Given the description of an element on the screen output the (x, y) to click on. 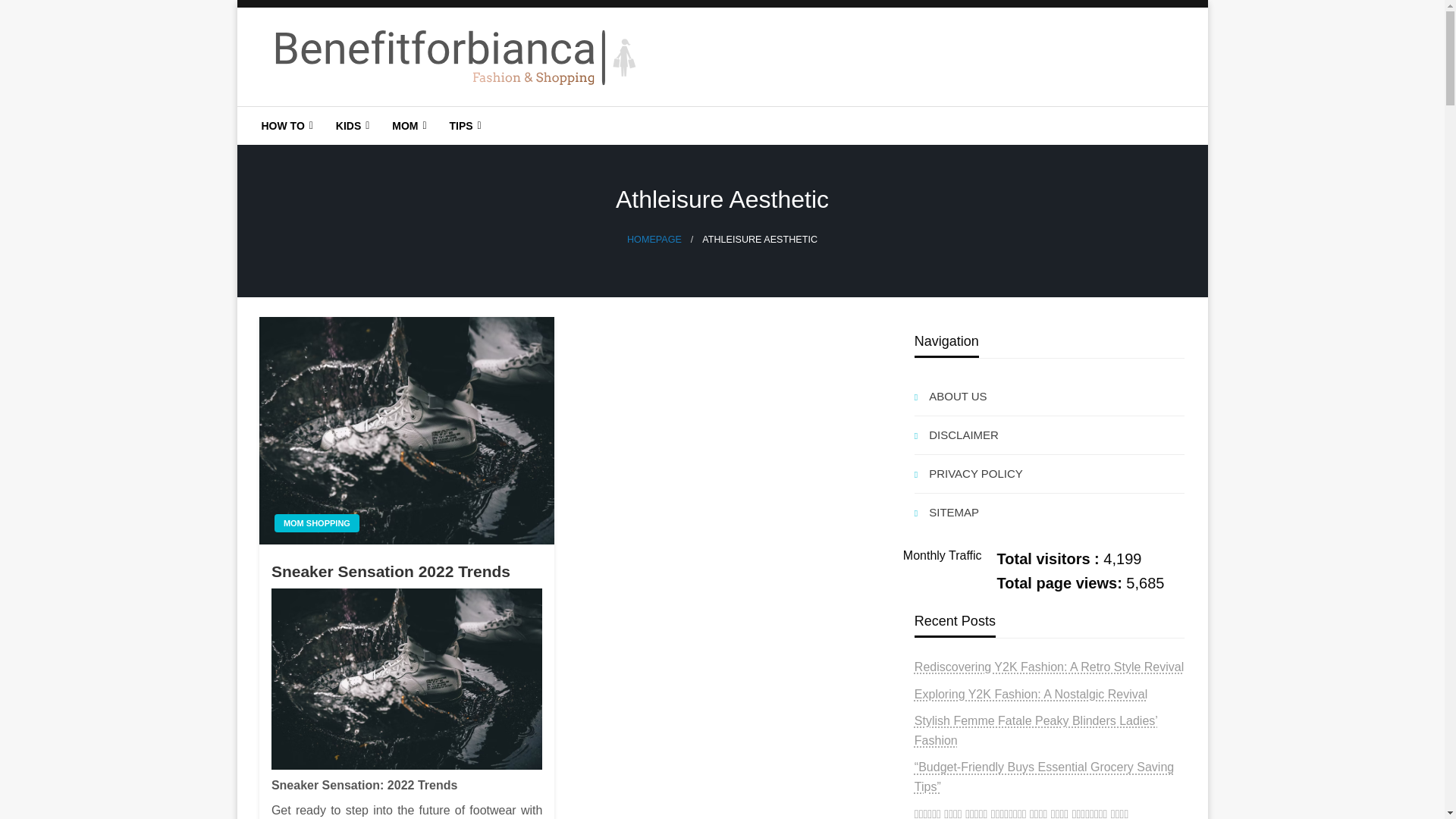
Homepage (654, 239)
HOMEPAGE (654, 239)
MOM (406, 125)
ABOUT US (1049, 395)
BenefitforBianca (374, 118)
TIPS (462, 125)
Sneaker Sensation 2022 Trends (405, 571)
MOM SHOPPING (317, 523)
Sneaker Sensation 2022 Trends (406, 430)
DISCLAIMER (1049, 435)
Rediscovering Y2K Fashion: A Retro Style Revival (1048, 666)
Exploring Y2K Fashion: A Nostalgic Revival (1030, 694)
PRIVACY POLICY (1049, 473)
KIDS (350, 125)
